Given the description of an element on the screen output the (x, y) to click on. 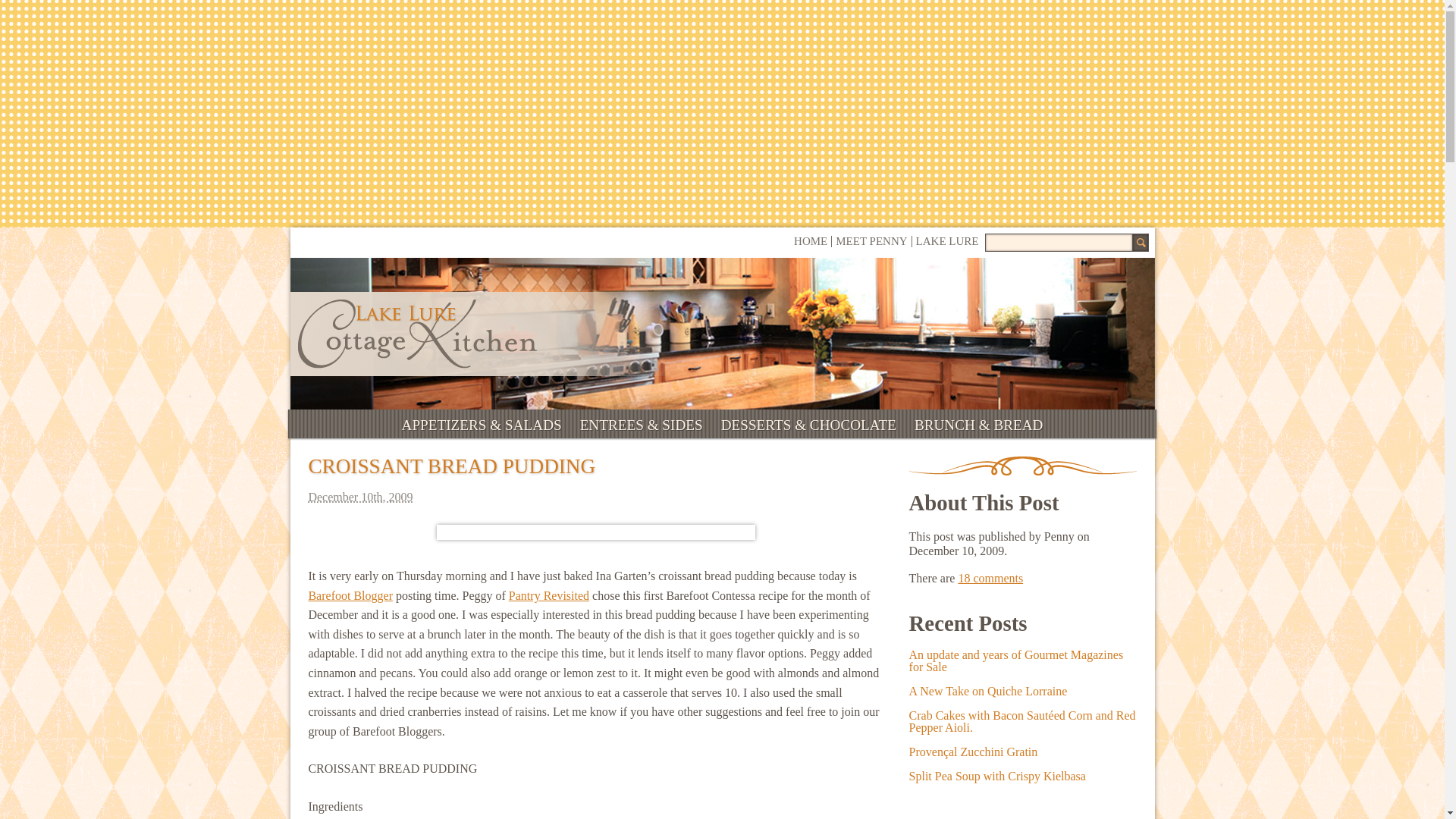
2009-12-10T06:58:00-05:00 (595, 497)
Pantry Revisited (548, 594)
Search (1139, 242)
LAKE LURE (946, 241)
HOME (810, 241)
Barefoot Blogger (350, 594)
MEET PENNY (871, 241)
Lake Lure Cottage Kitchen (416, 333)
